Given the description of an element on the screen output the (x, y) to click on. 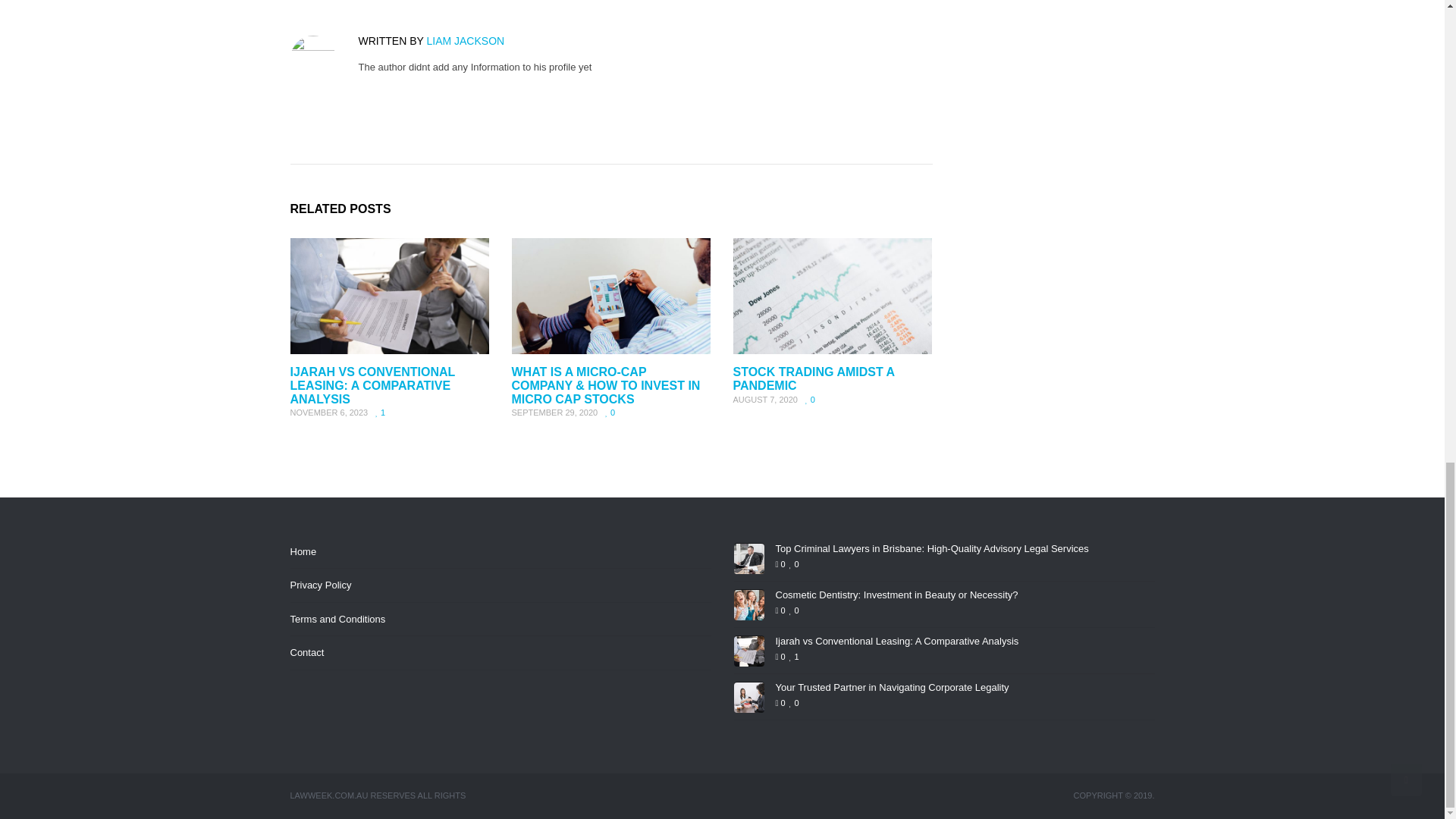
0 (810, 399)
STOCK TRADING AMIDST A PANDEMIC (812, 378)
Posts by Liam Jackson (464, 40)
1 (380, 411)
IJARAH VS CONVENTIONAL LEASING: A COMPARATIVE ANALYSIS (371, 384)
0 (609, 411)
LIAM JACKSON (464, 40)
